Given the description of an element on the screen output the (x, y) to click on. 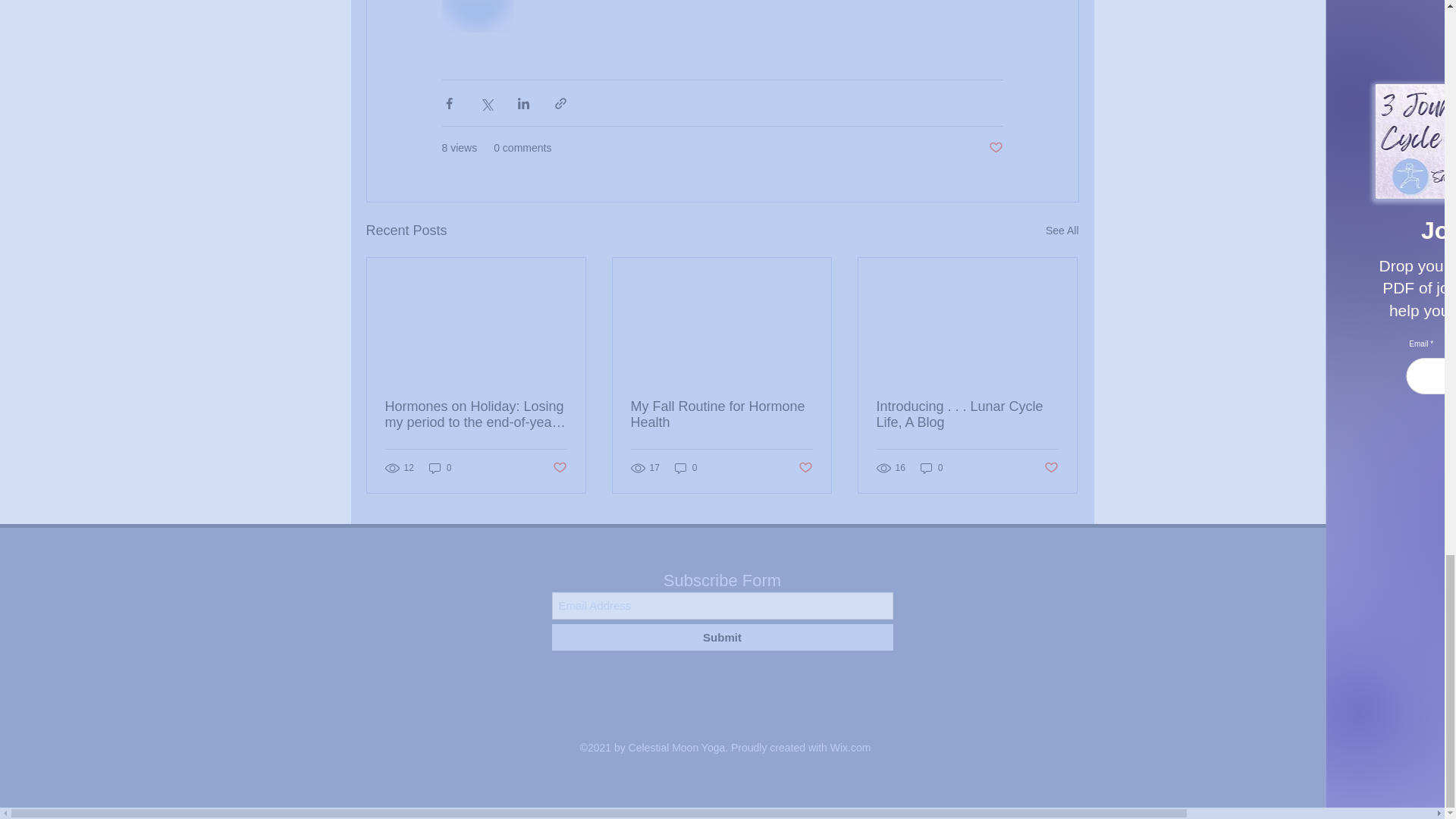
Post not marked as liked (558, 467)
My Fall Routine for Hormone Health (721, 414)
Introducing . . . Lunar Cycle Life, A Blog (967, 414)
Submit (722, 637)
Post not marked as liked (804, 467)
0 (685, 467)
0 (931, 467)
Post not marked as liked (1050, 467)
0 (440, 467)
See All (1061, 230)
Post not marked as liked (995, 148)
